Given the description of an element on the screen output the (x, y) to click on. 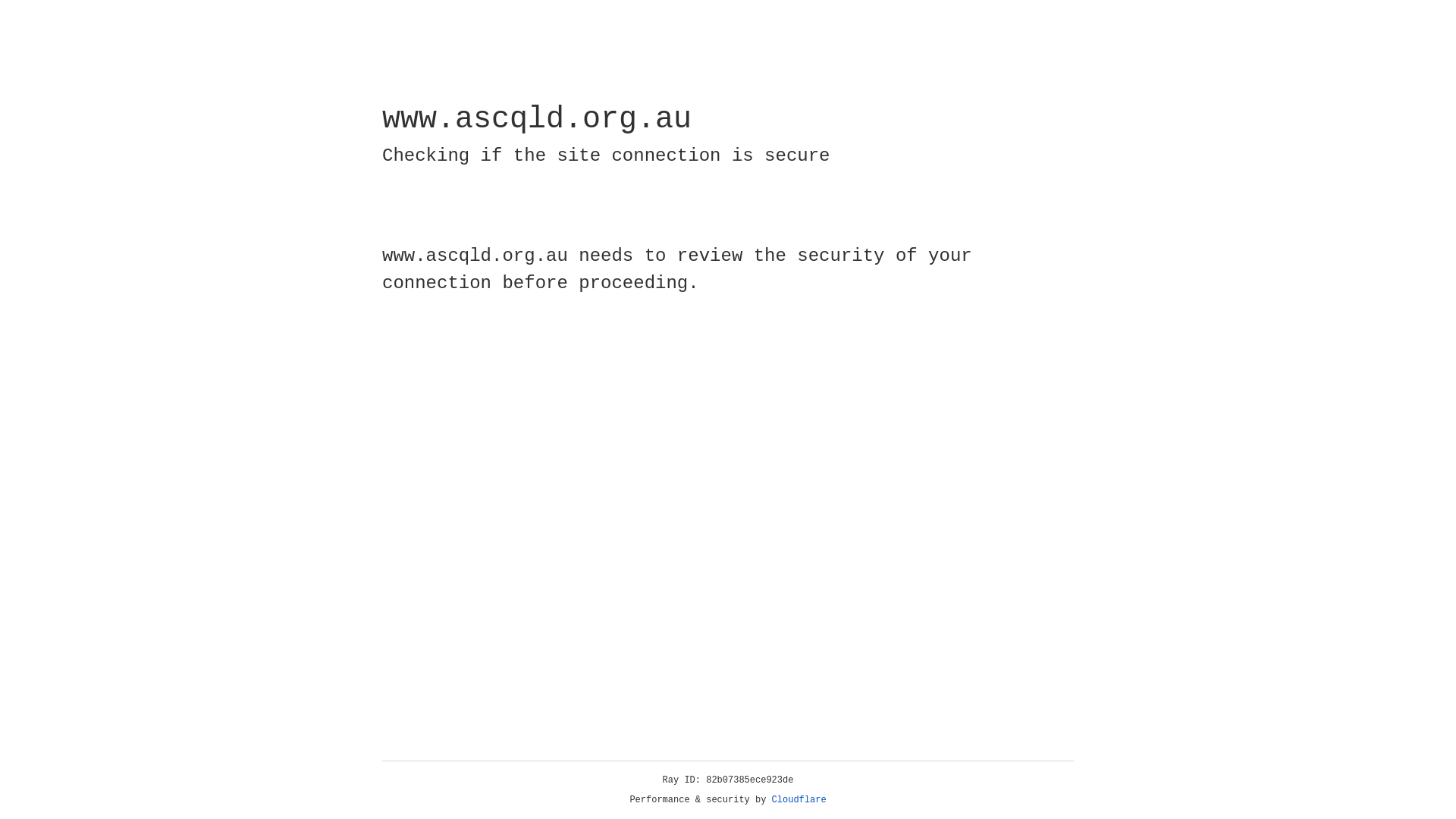
Cloudflare Element type: text (798, 799)
